Given the description of an element on the screen output the (x, y) to click on. 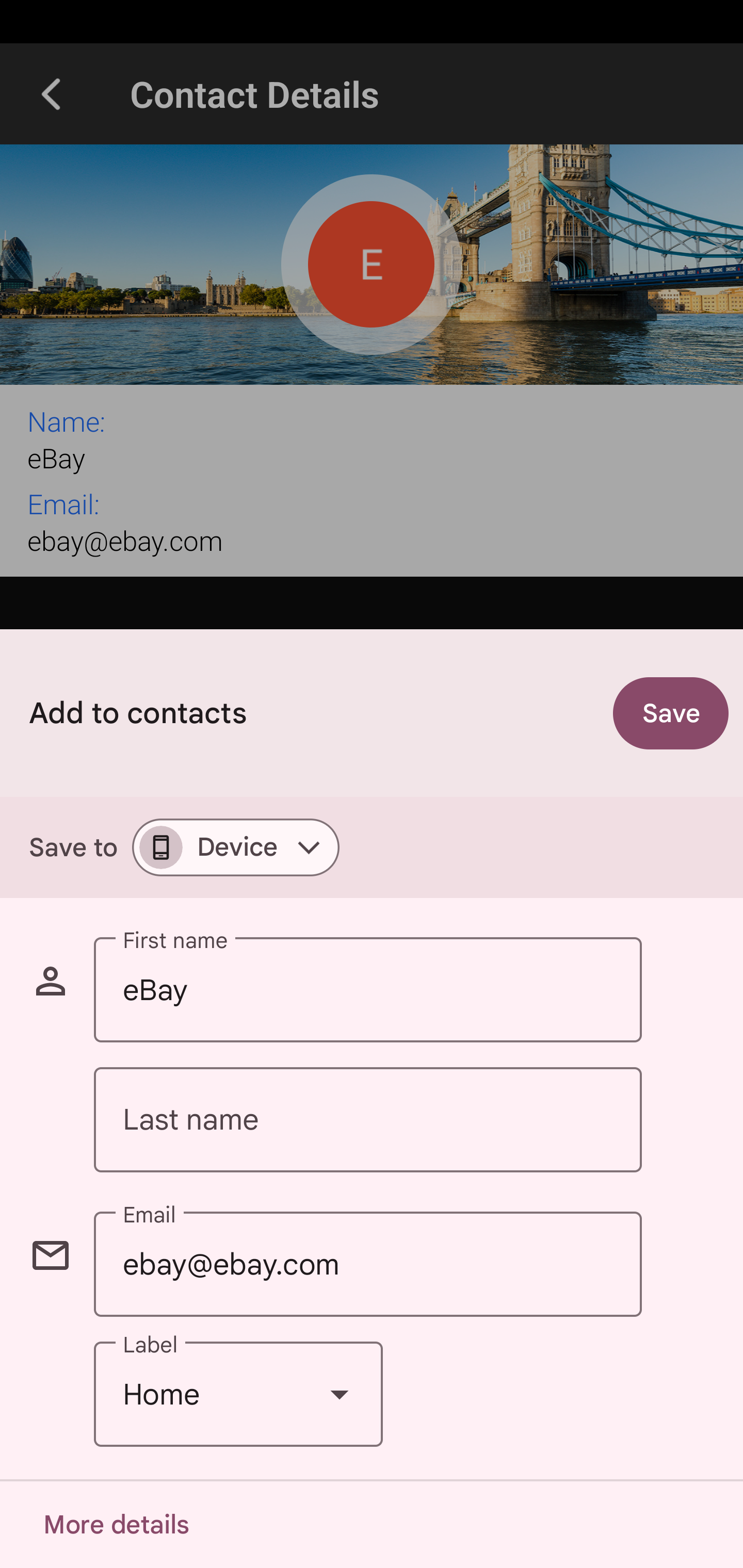
Save (670, 713)
eBay (367, 989)
Last name (367, 1119)
ebay@ebay.com (367, 1264)
Home Home Email (237, 1394)
Show dropdown menu (339, 1394)
More details (116, 1524)
